Given the description of an element on the screen output the (x, y) to click on. 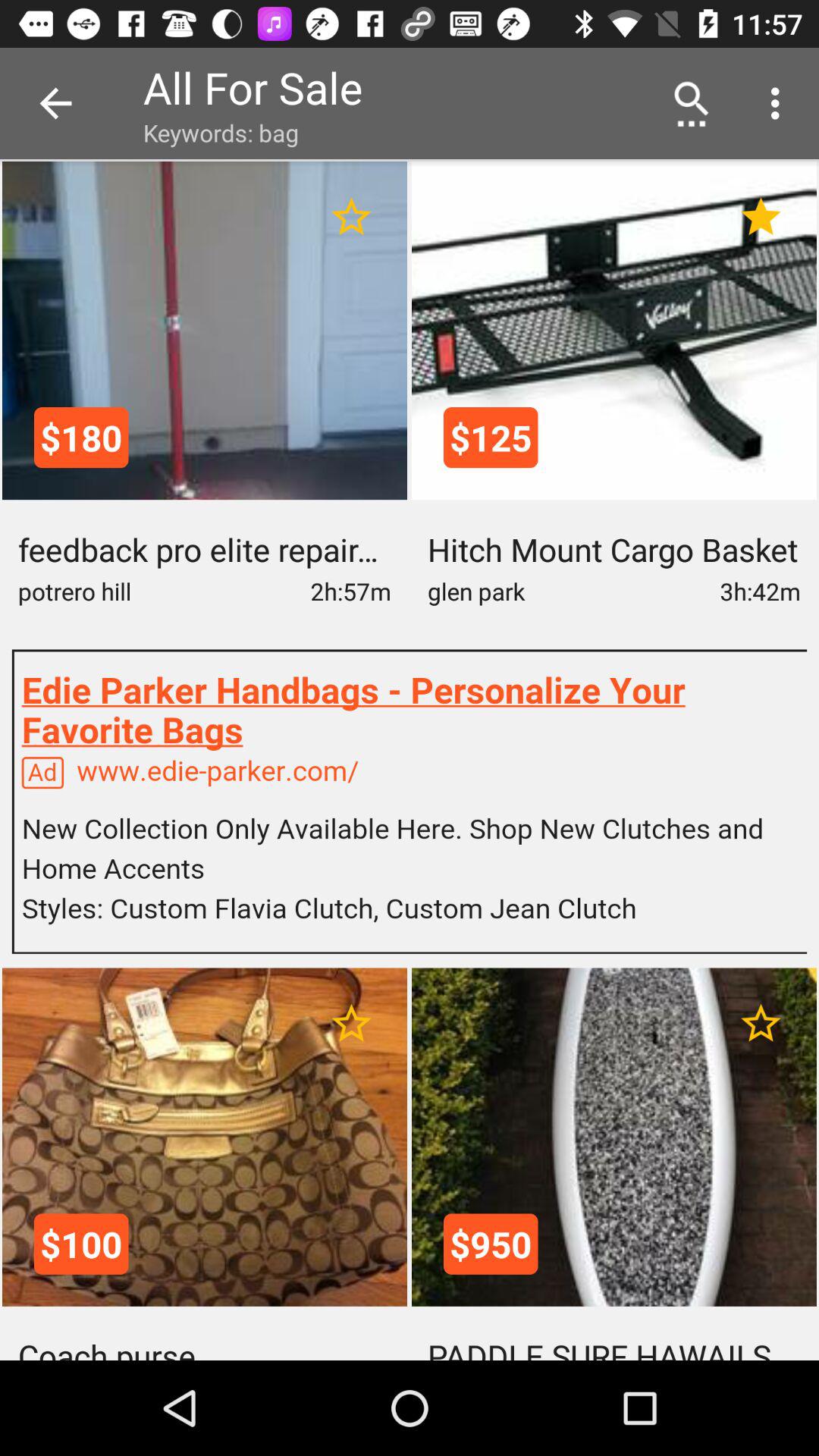
add to favorite (760, 1023)
